Given the description of an element on the screen output the (x, y) to click on. 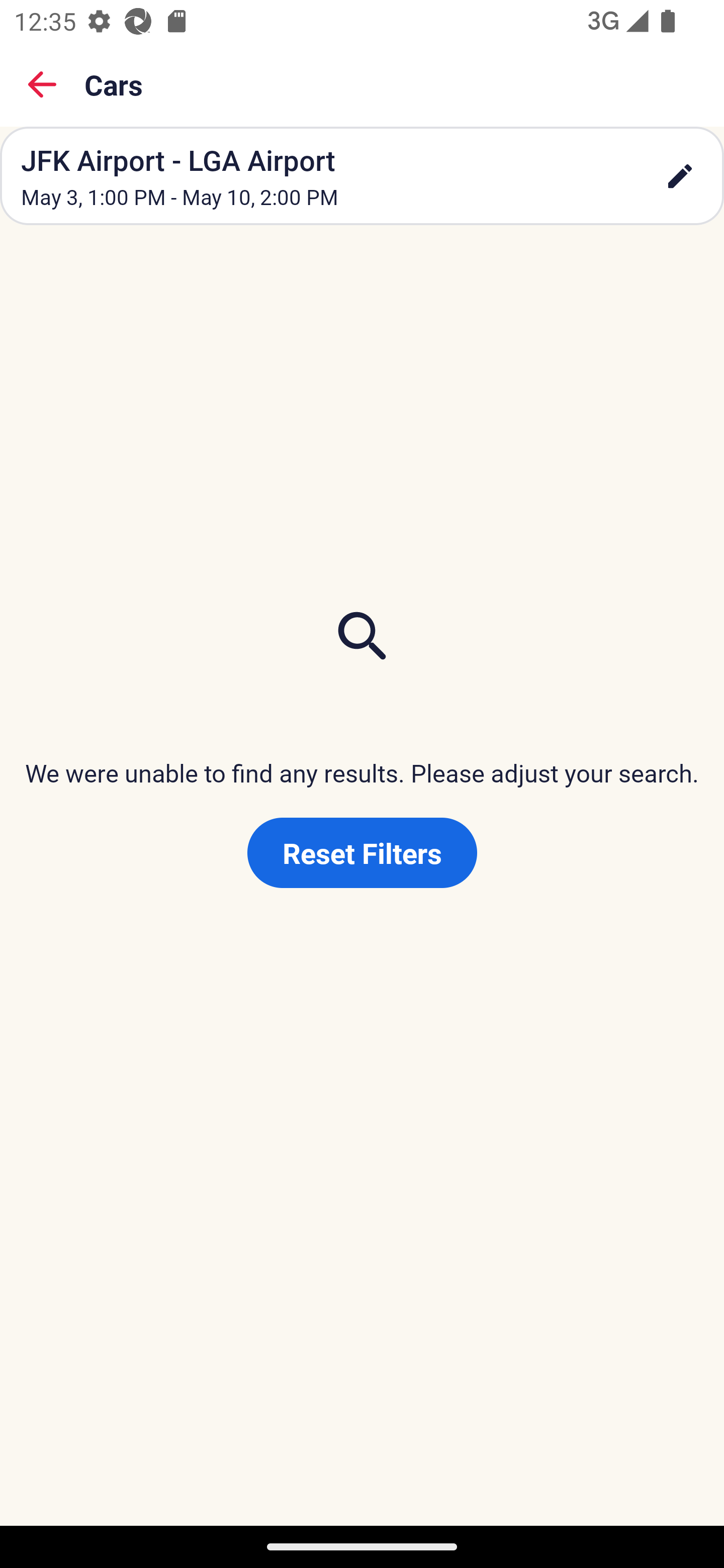
Back (42, 84)
edit (679, 175)
Reset Filters (362, 852)
